Given the description of an element on the screen output the (x, y) to click on. 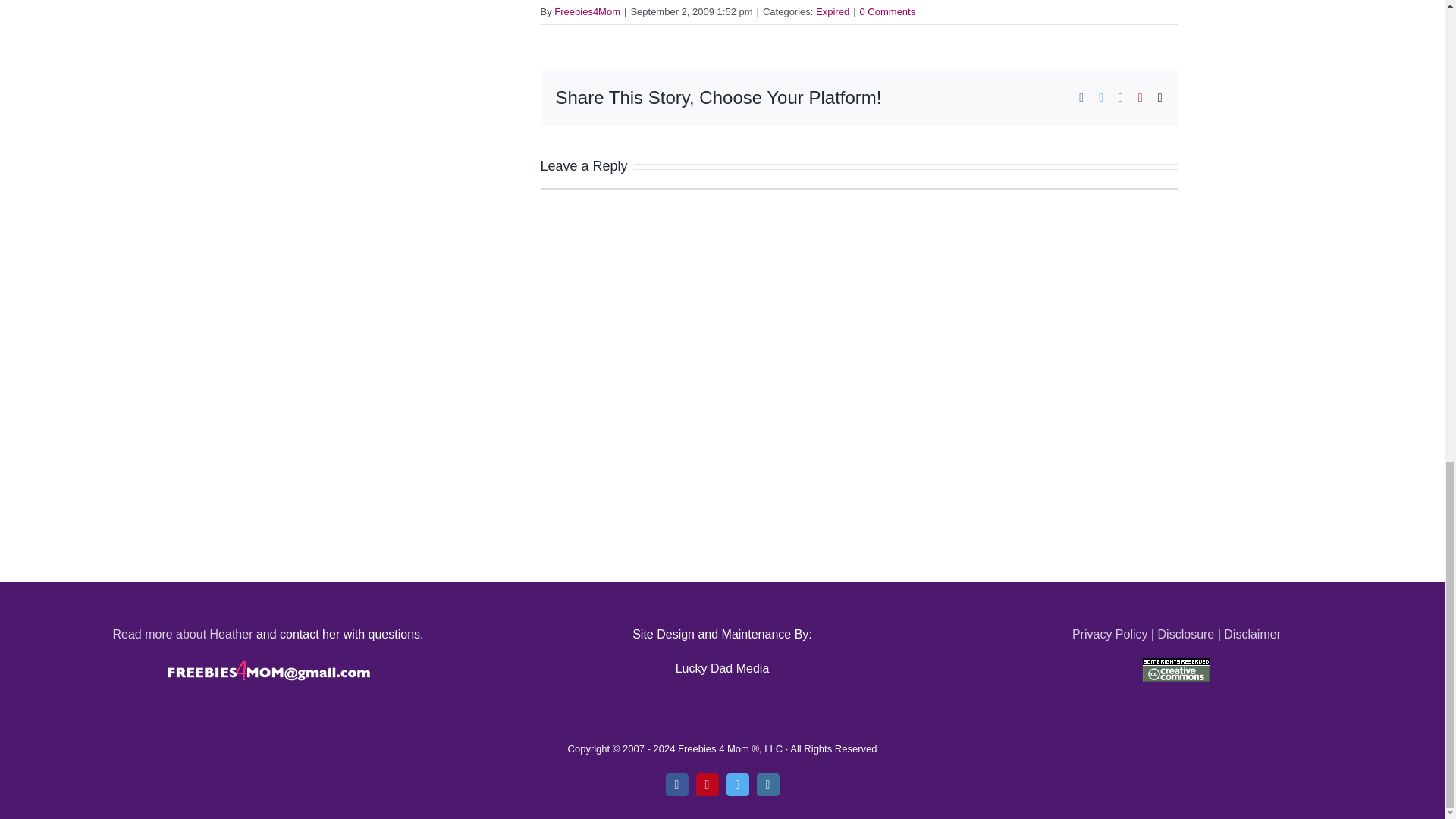
Posts by Freebies4Mom (587, 11)
